Given the description of an element on the screen output the (x, y) to click on. 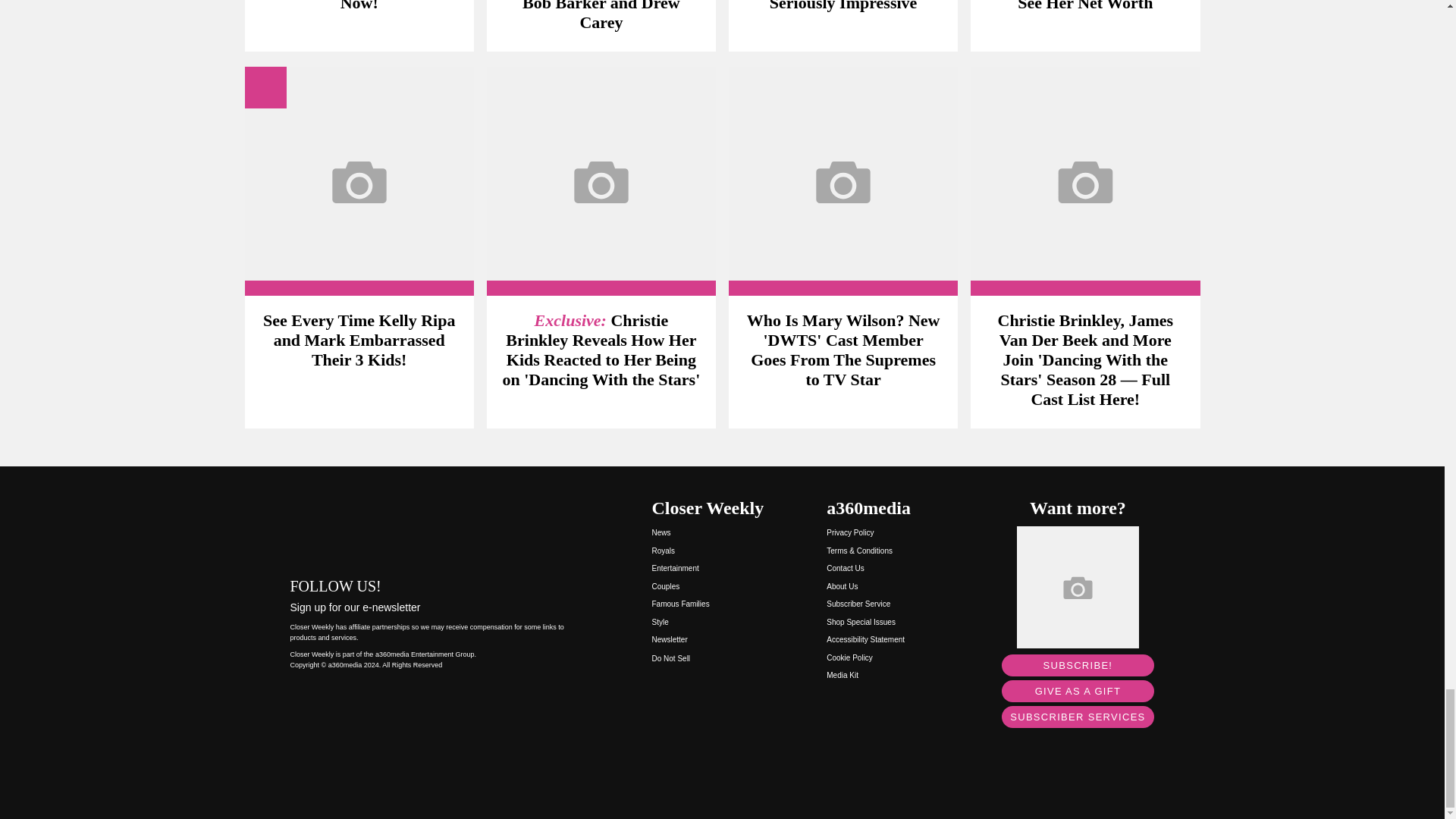
Home (434, 526)
